Given the description of an element on the screen output the (x, y) to click on. 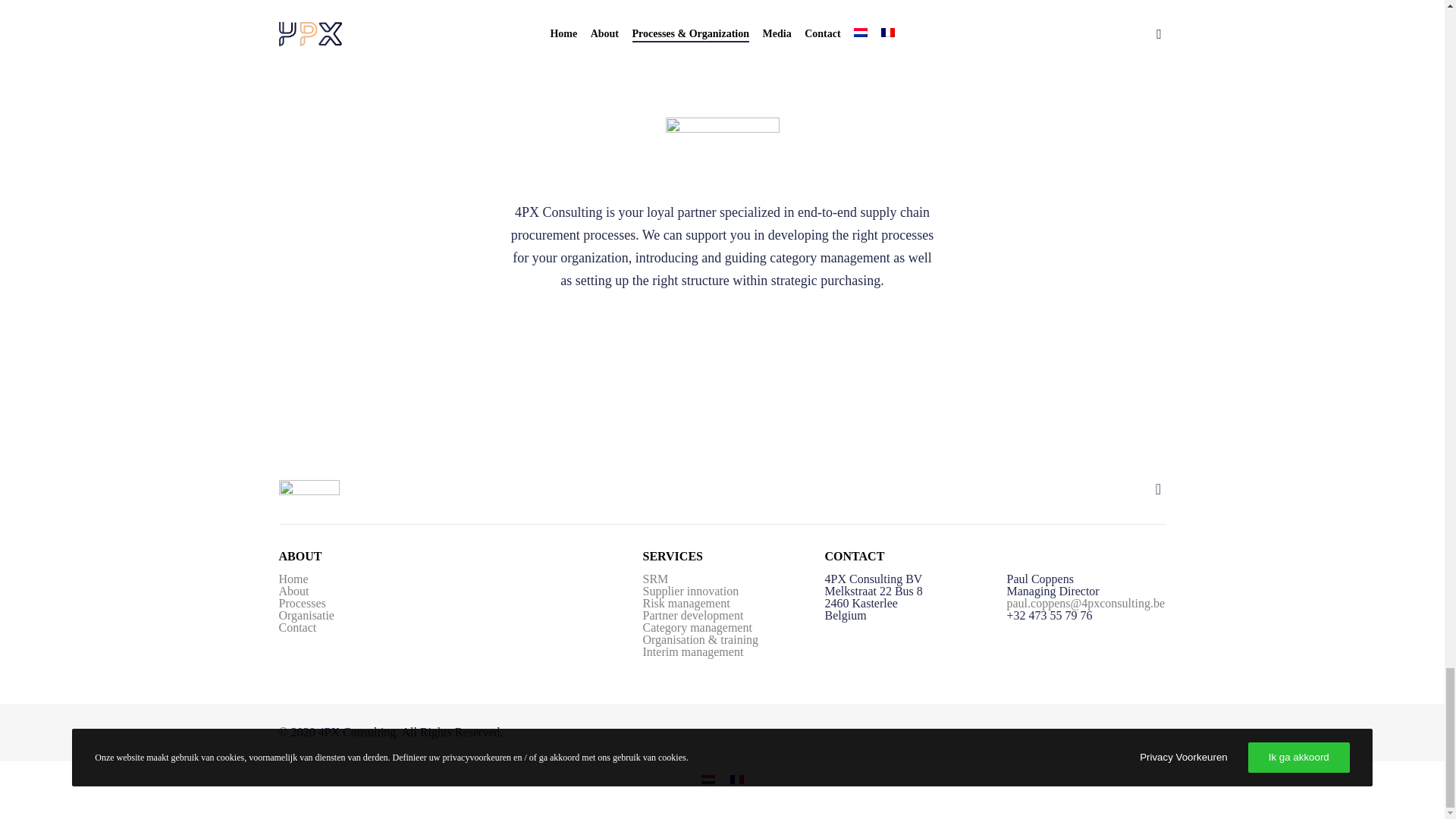
About (293, 590)
Processes (302, 603)
Organisatie (306, 615)
Home (293, 578)
Contact (298, 626)
LinkedIn (1158, 490)
